Given the description of an element on the screen output the (x, y) to click on. 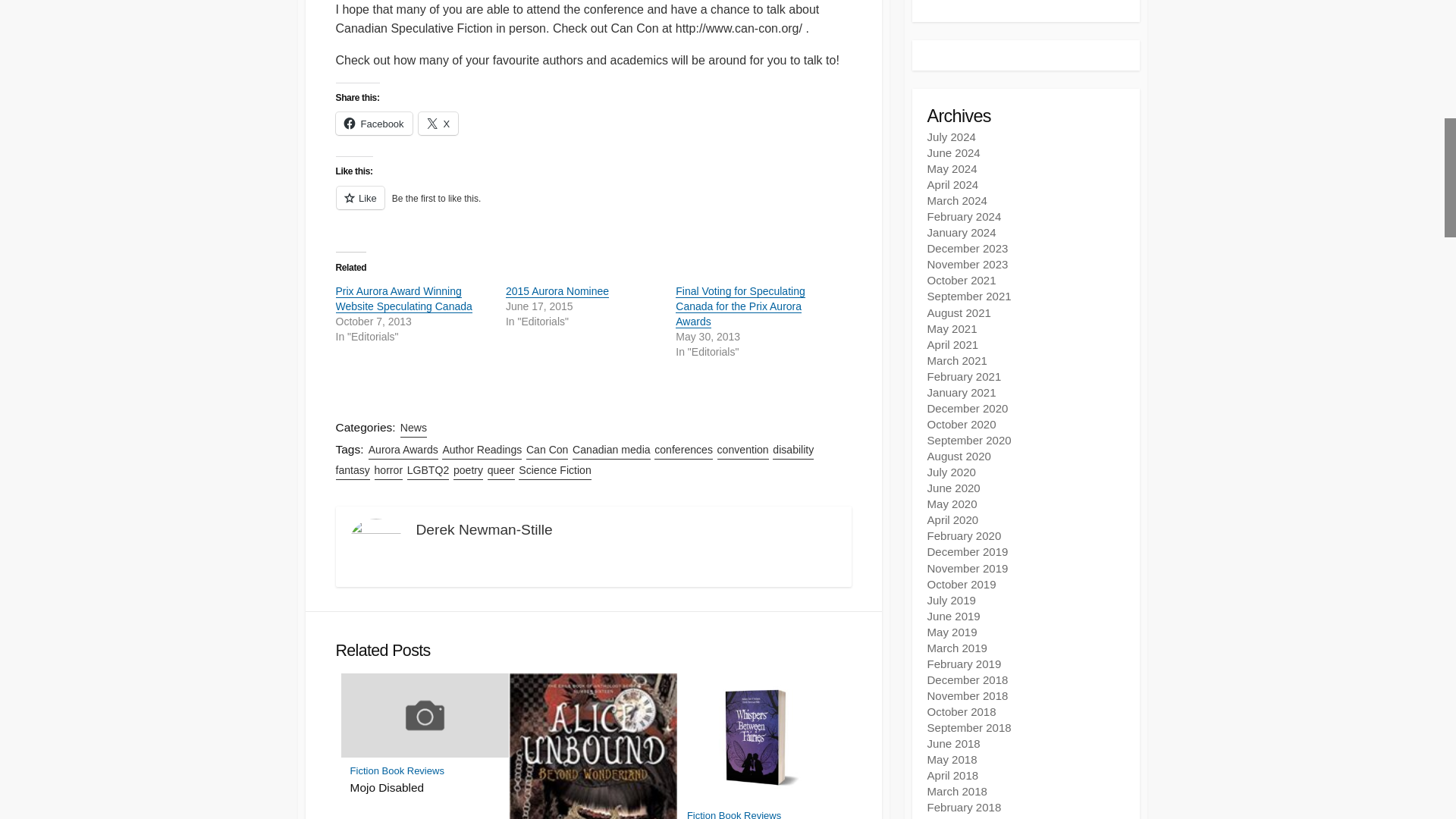
Facebook (373, 123)
Mojo Disabled (425, 787)
queer (501, 470)
LGBTQ2 (428, 470)
2015 Aurora Nominee (556, 291)
Click to share on Facebook (373, 123)
conferences (683, 449)
disability (793, 449)
Fiction Book Reviews (733, 814)
fantasy (351, 470)
Can Con (547, 449)
2015 Aurora Nominee (556, 291)
Author Readings (481, 449)
Like or Reblog (592, 206)
Click to share on X (438, 123)
